Given the description of an element on the screen output the (x, y) to click on. 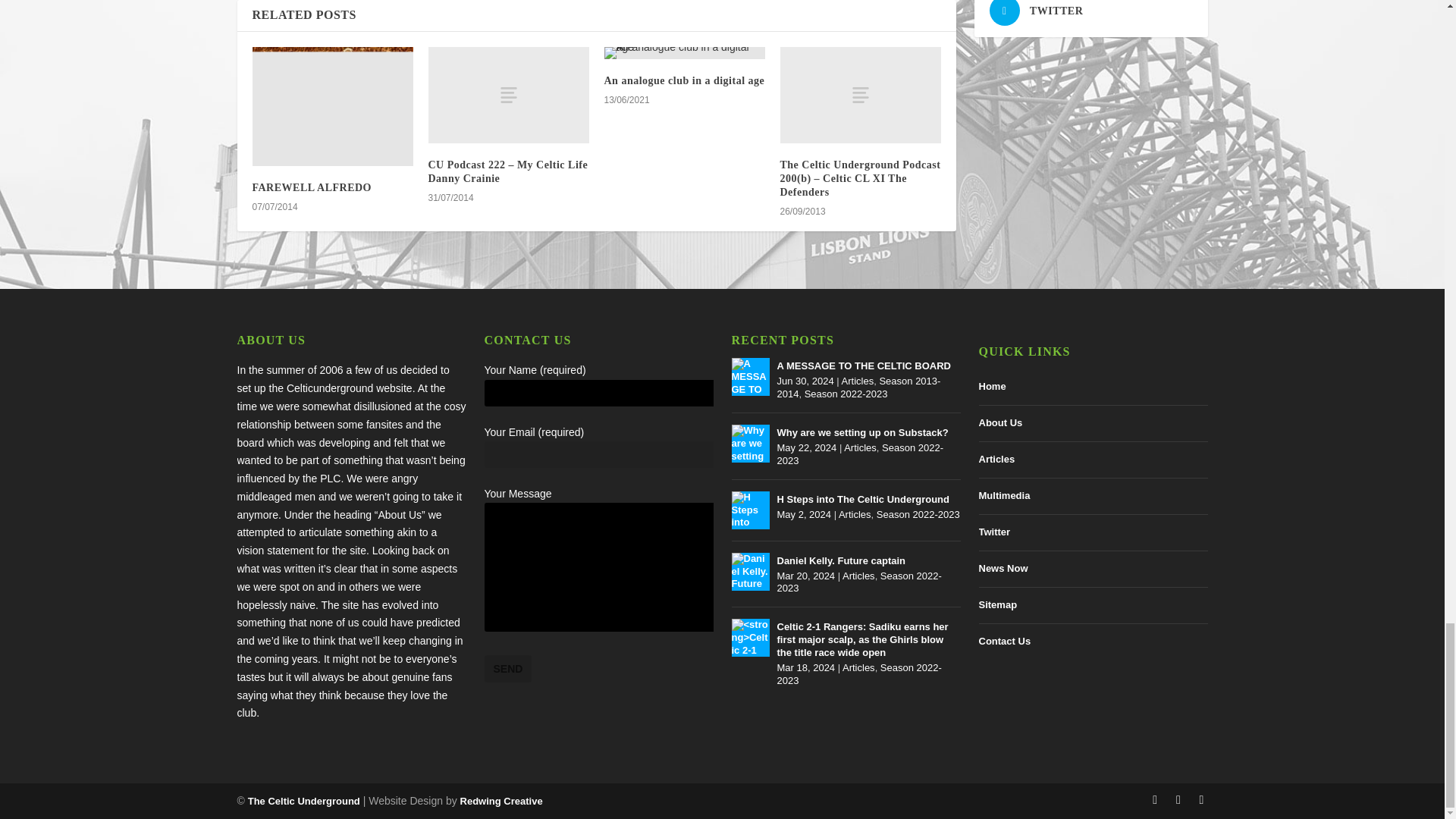
Send (507, 668)
